Given the description of an element on the screen output the (x, y) to click on. 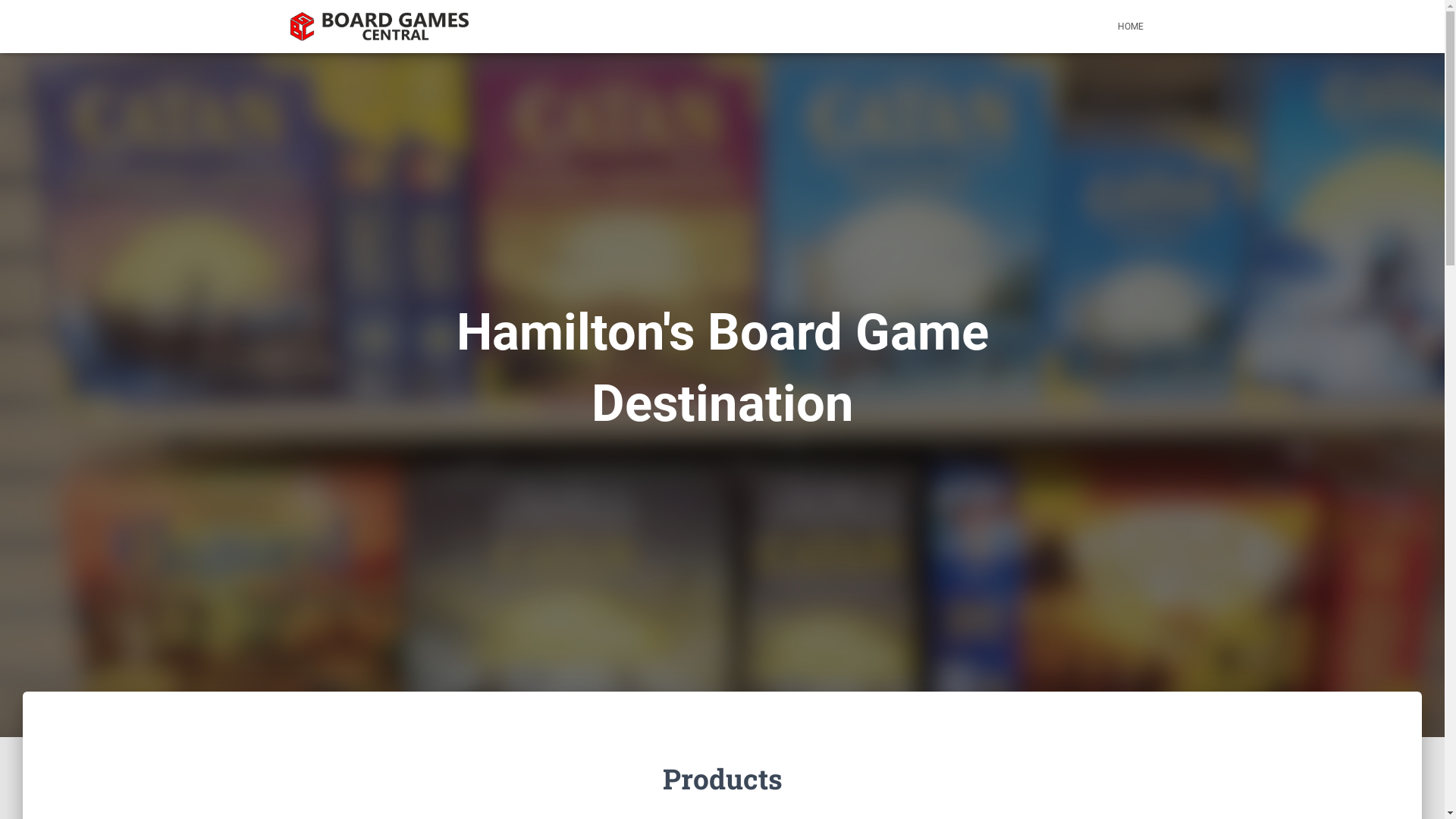
Board Games Central Element type: hover (379, 26)
HOME Element type: text (1129, 26)
